Given the description of an element on the screen output the (x, y) to click on. 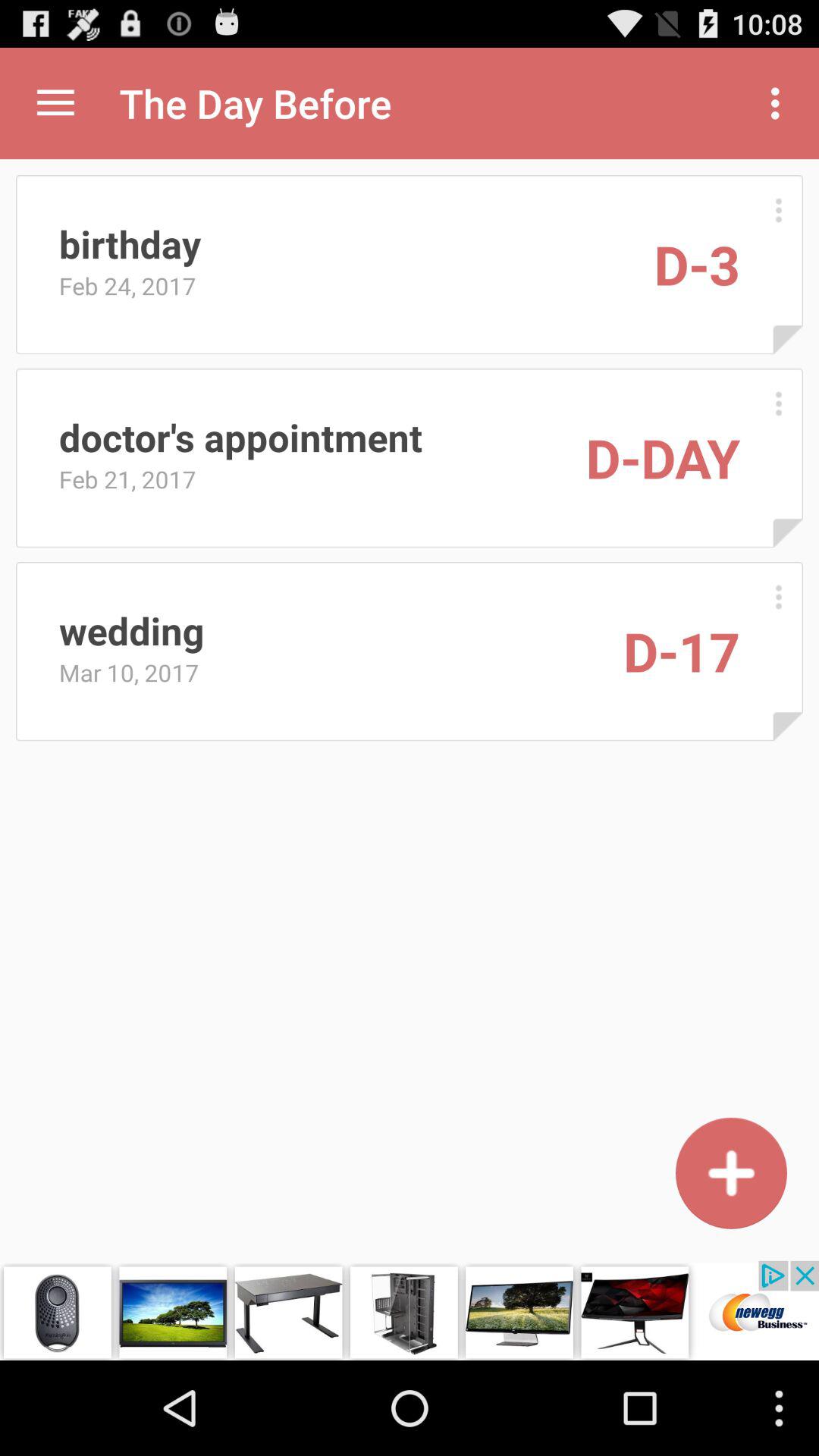
share (55, 103)
